Given the description of an element on the screen output the (x, y) to click on. 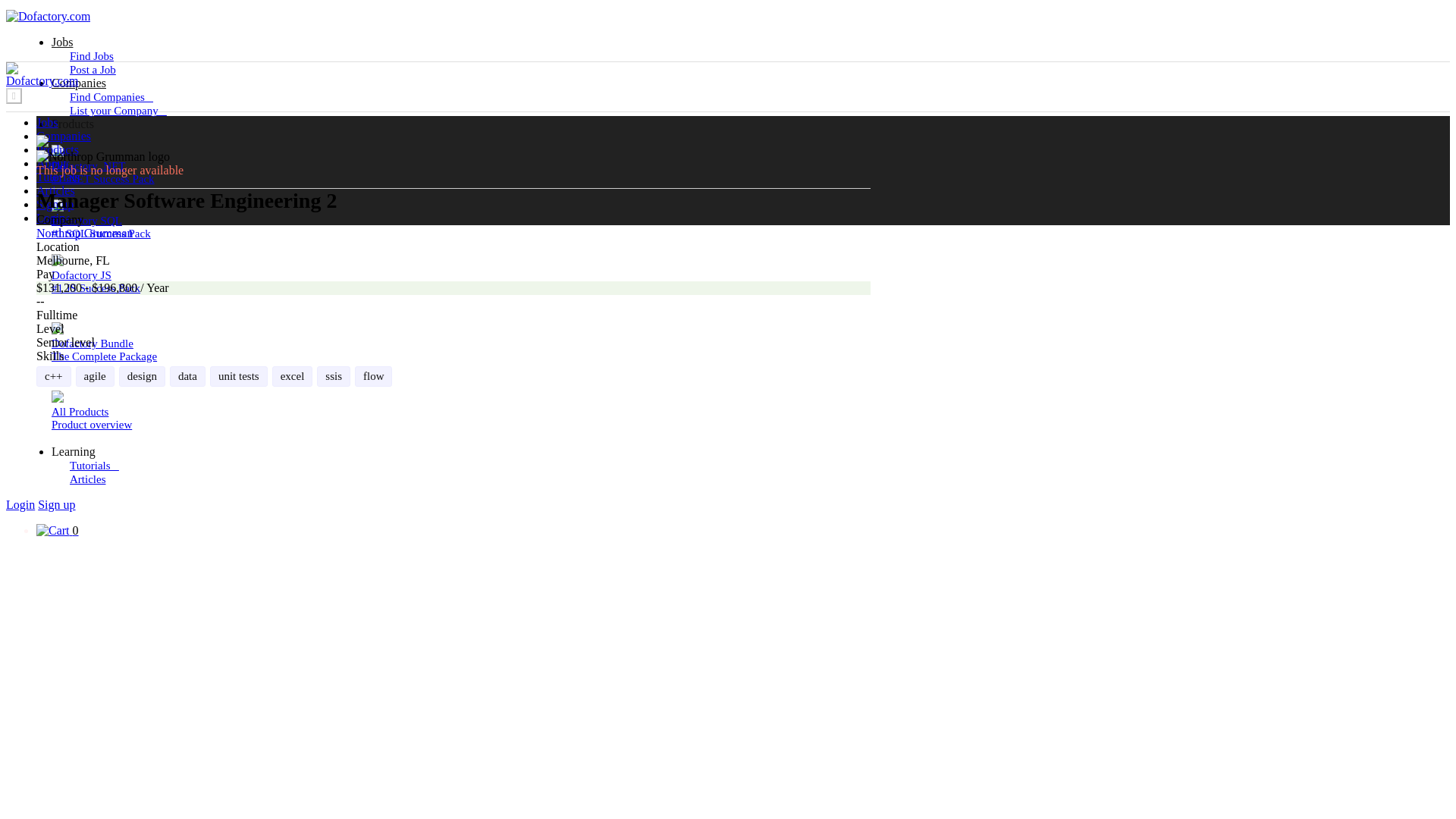
Companies (278, 410)
Jobs (278, 342)
Find Jobs (63, 135)
Sign up (47, 122)
Cart (91, 56)
Learning (55, 204)
agile (52, 530)
Northrop Grumman (73, 451)
Products (95, 376)
Find Companies    (84, 232)
Login (72, 123)
Articles (110, 96)
Articles (19, 504)
